Given the description of an element on the screen output the (x, y) to click on. 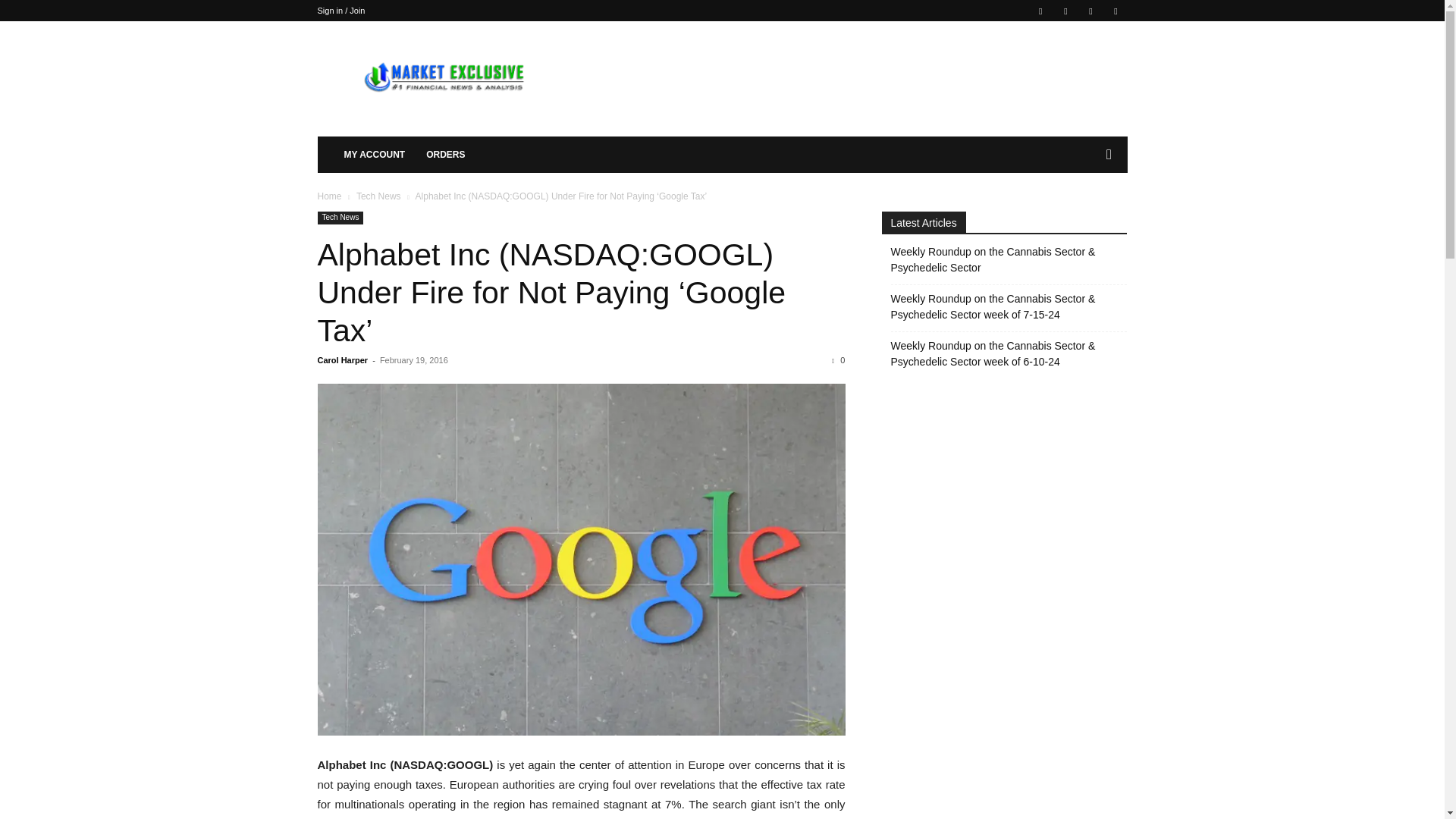
Tech News (378, 195)
MY ACCOUNT (374, 154)
Twitter (1114, 10)
Tech News (339, 217)
Linkedin (1065, 10)
ORDERS (445, 154)
Facebook (1040, 10)
View all posts in Tech News (378, 195)
Home (328, 195)
Search (1085, 215)
Tumblr (1090, 10)
0 (837, 359)
Carol Harper (342, 359)
